Given the description of an element on the screen output the (x, y) to click on. 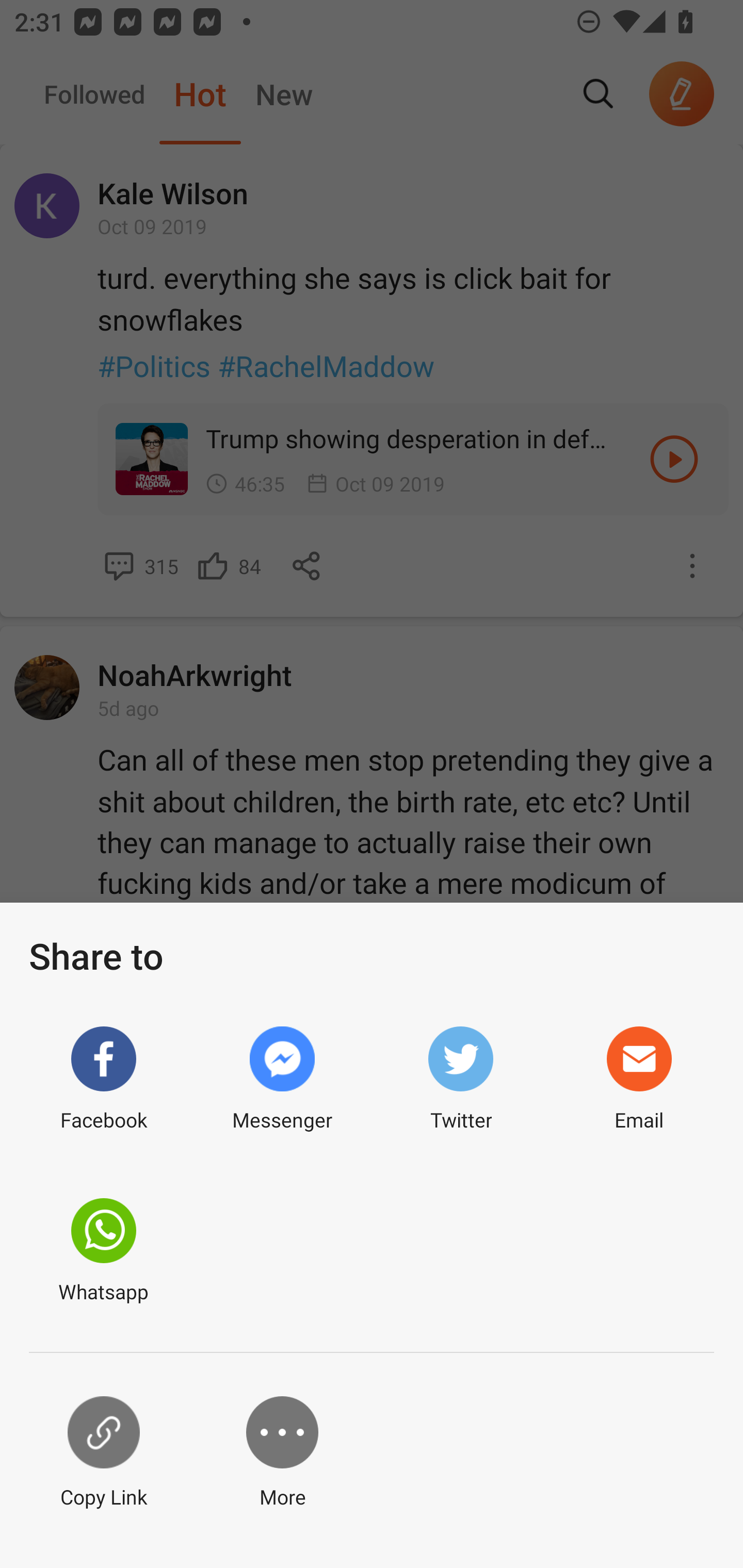
Facebook (103, 1079)
Messenger (282, 1079)
Twitter (460, 1079)
Email (638, 1079)
Whatsapp (103, 1251)
Copy Link (103, 1453)
More (282, 1453)
